Given the description of an element on the screen output the (x, y) to click on. 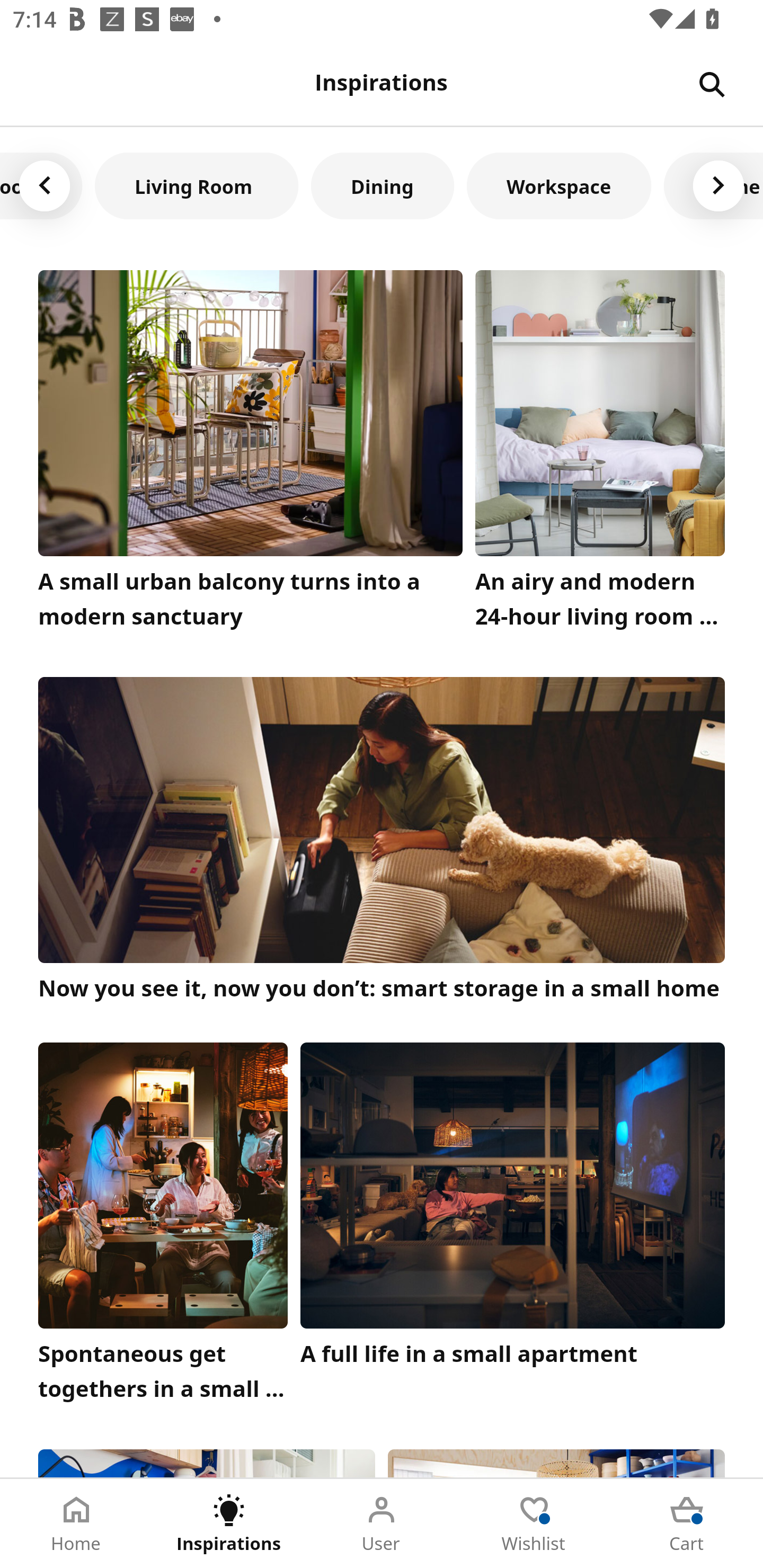
Living Room  (196, 185)
Dining (382, 185)
Workspace (558, 185)
An airy and modern 24-hour living room oasis (599, 453)
Spontaneous get togethers in a small apartment (162, 1226)
A full life in a small apartment (512, 1226)
Home
Tab 1 of 5 (76, 1522)
Inspirations
Tab 2 of 5 (228, 1522)
User
Tab 3 of 5 (381, 1522)
Wishlist
Tab 4 of 5 (533, 1522)
Cart
Tab 5 of 5 (686, 1522)
